Given the description of an element on the screen output the (x, y) to click on. 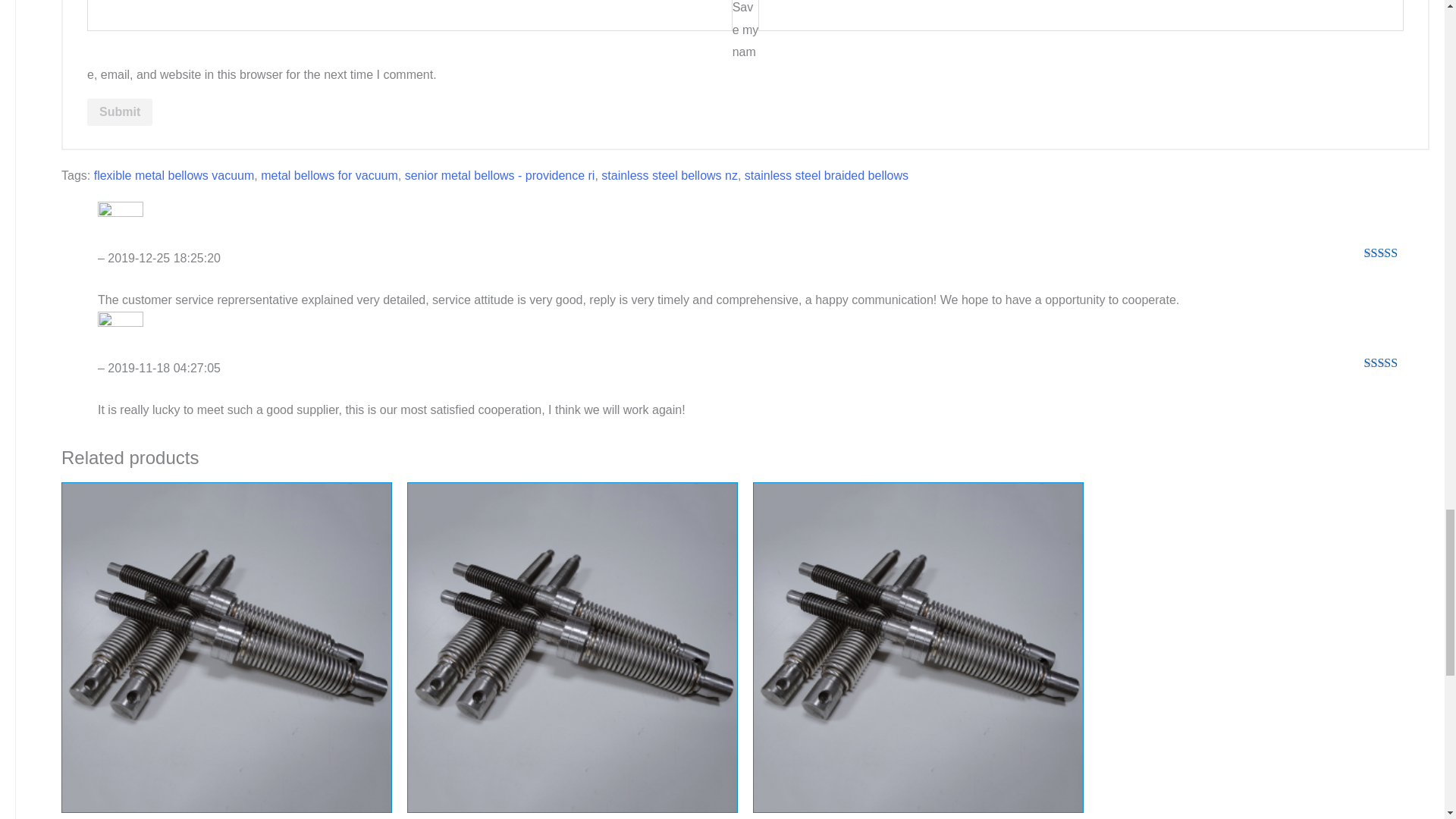
stainless steel braided bellows (826, 174)
stainless steel bellows nz (669, 174)
Submit (119, 112)
metal bellows for vacuum (328, 174)
Submit (119, 112)
flexible metal bellows vacuum (174, 174)
senior metal bellows - providence ri (499, 174)
